Given the description of an element on the screen output the (x, y) to click on. 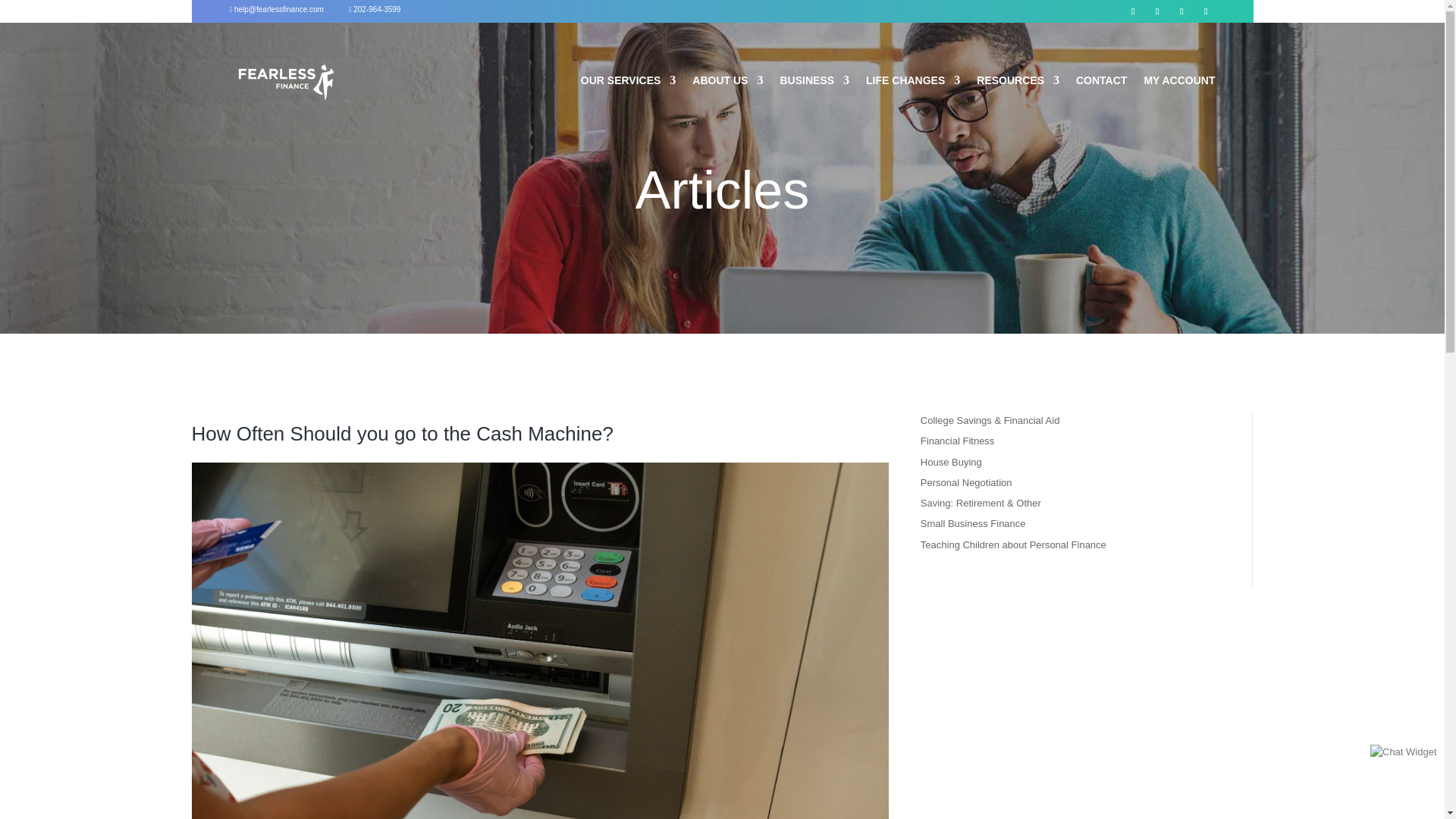
Follow on Facebook (1132, 11)
Follow on LinkedIn (1205, 11)
Follow on X (1157, 11)
Follow on Instagram (1181, 11)
